Given the description of an element on the screen output the (x, y) to click on. 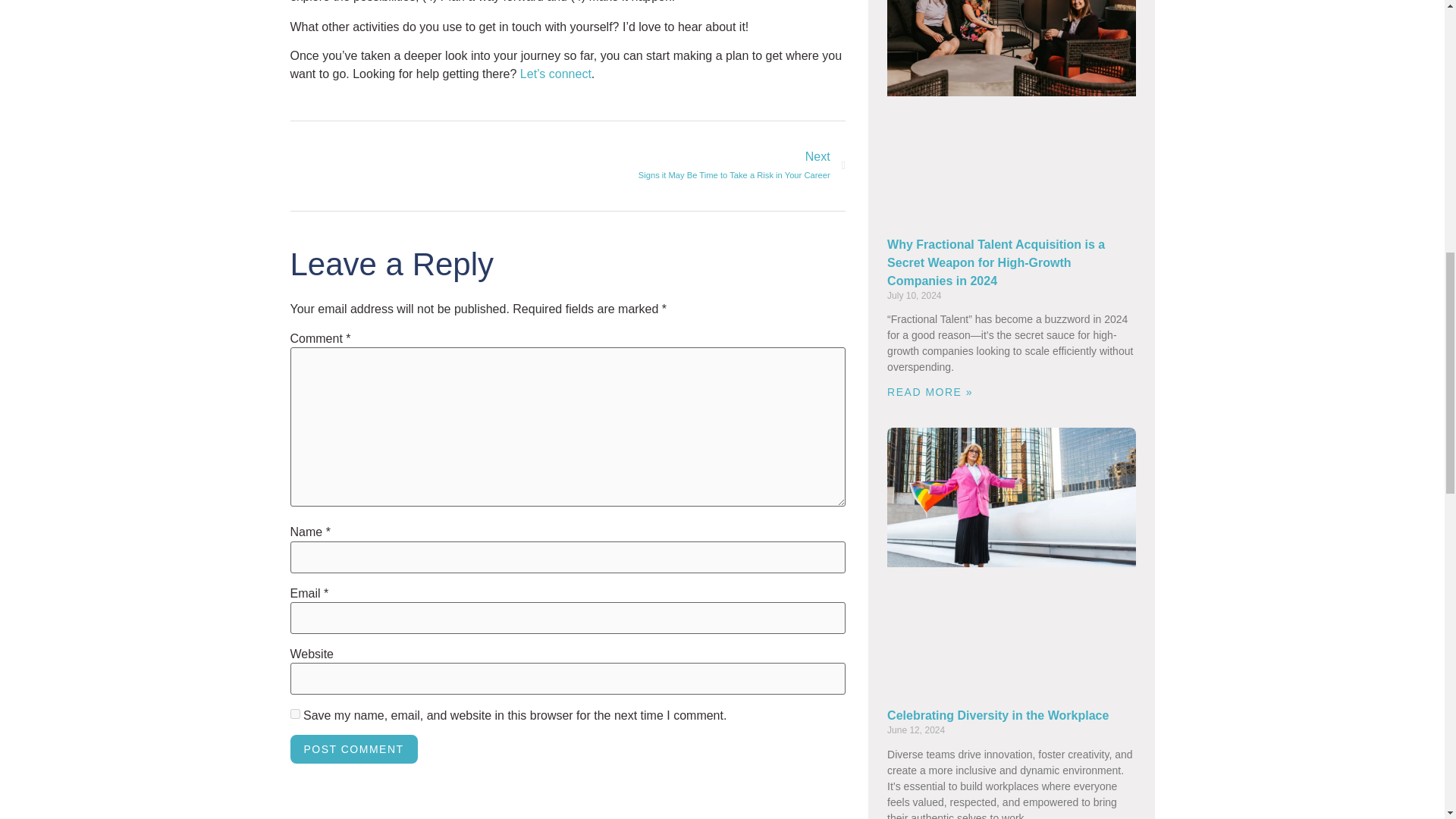
Post Comment (352, 748)
yes (294, 714)
Post Comment (706, 166)
